Given the description of an element on the screen output the (x, y) to click on. 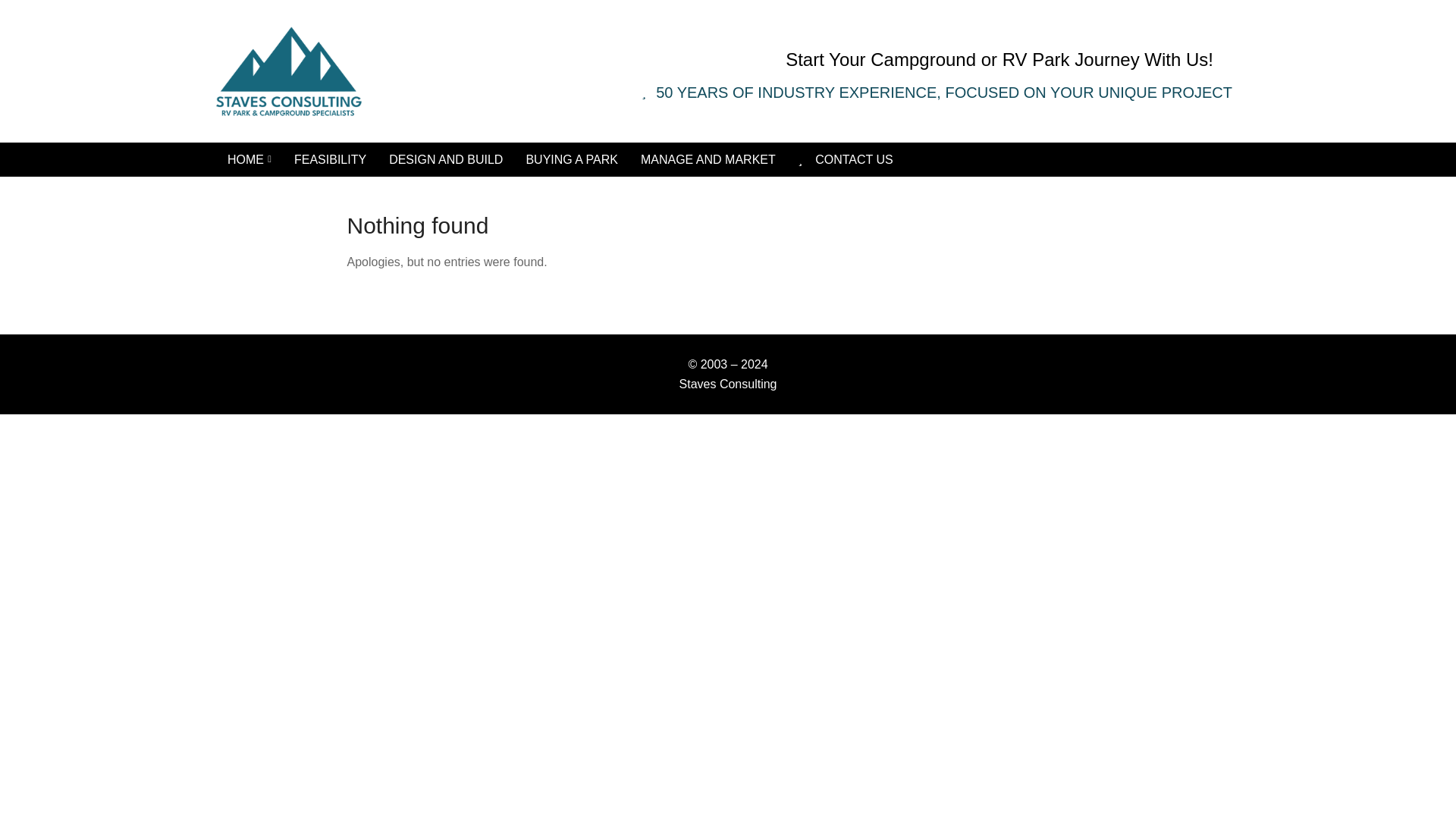
DESIGN AND BUILD (445, 159)
MANAGE AND MARKET (707, 159)
CONTACT US (845, 159)
BUYING A PARK (570, 159)
HOME (248, 159)
FEASIBILITY (329, 159)
